Given the description of an element on the screen output the (x, y) to click on. 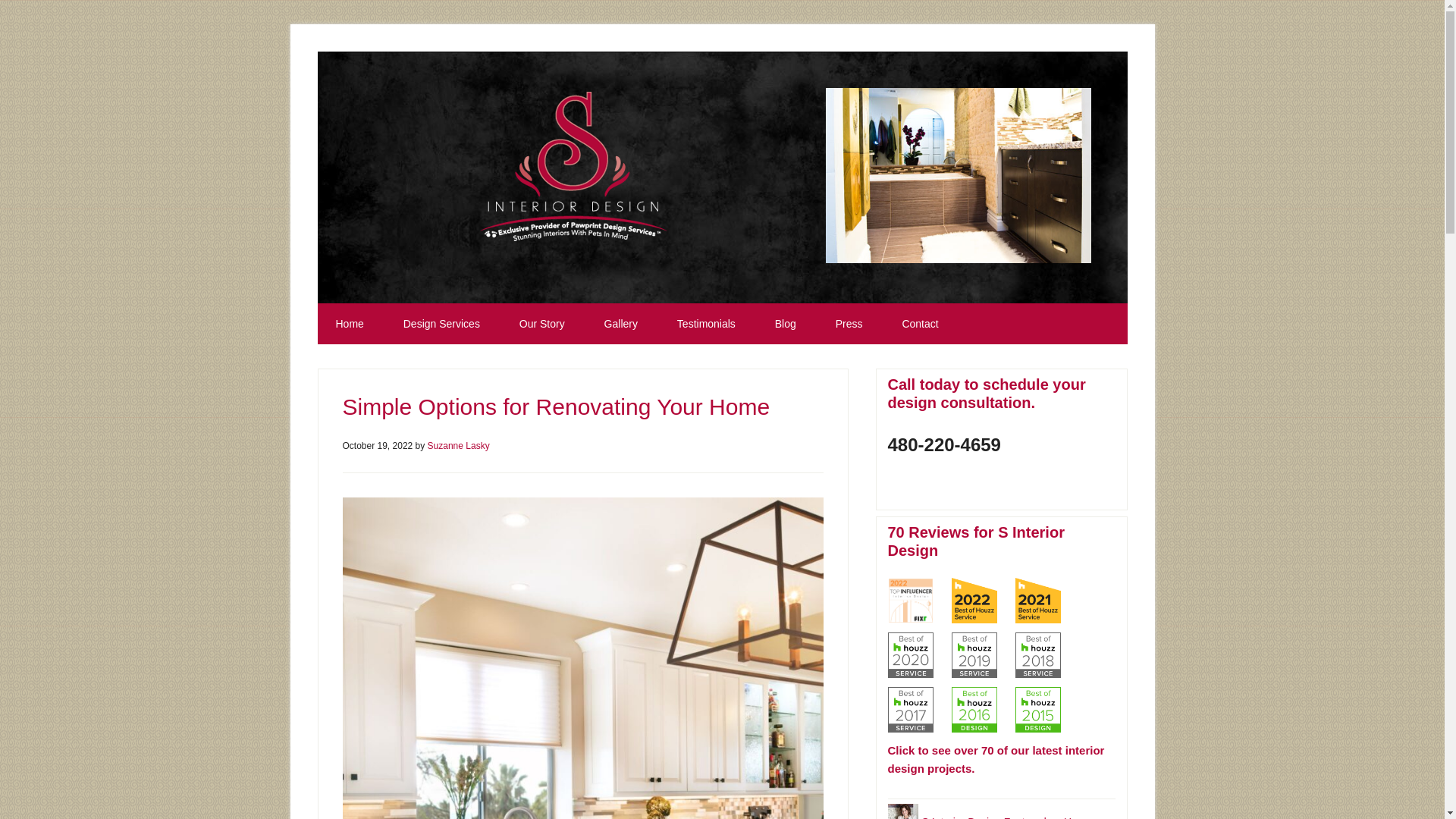
Gallery (621, 323)
Interior Design Scottsdale, AZ by S Interior Design (573, 170)
Design Services (441, 323)
Contact (919, 323)
Home (349, 323)
Testimonials (706, 323)
Press (848, 323)
Suzanne Lasky (458, 445)
Blog (785, 323)
Our Story (541, 323)
